Given the description of an element on the screen output the (x, y) to click on. 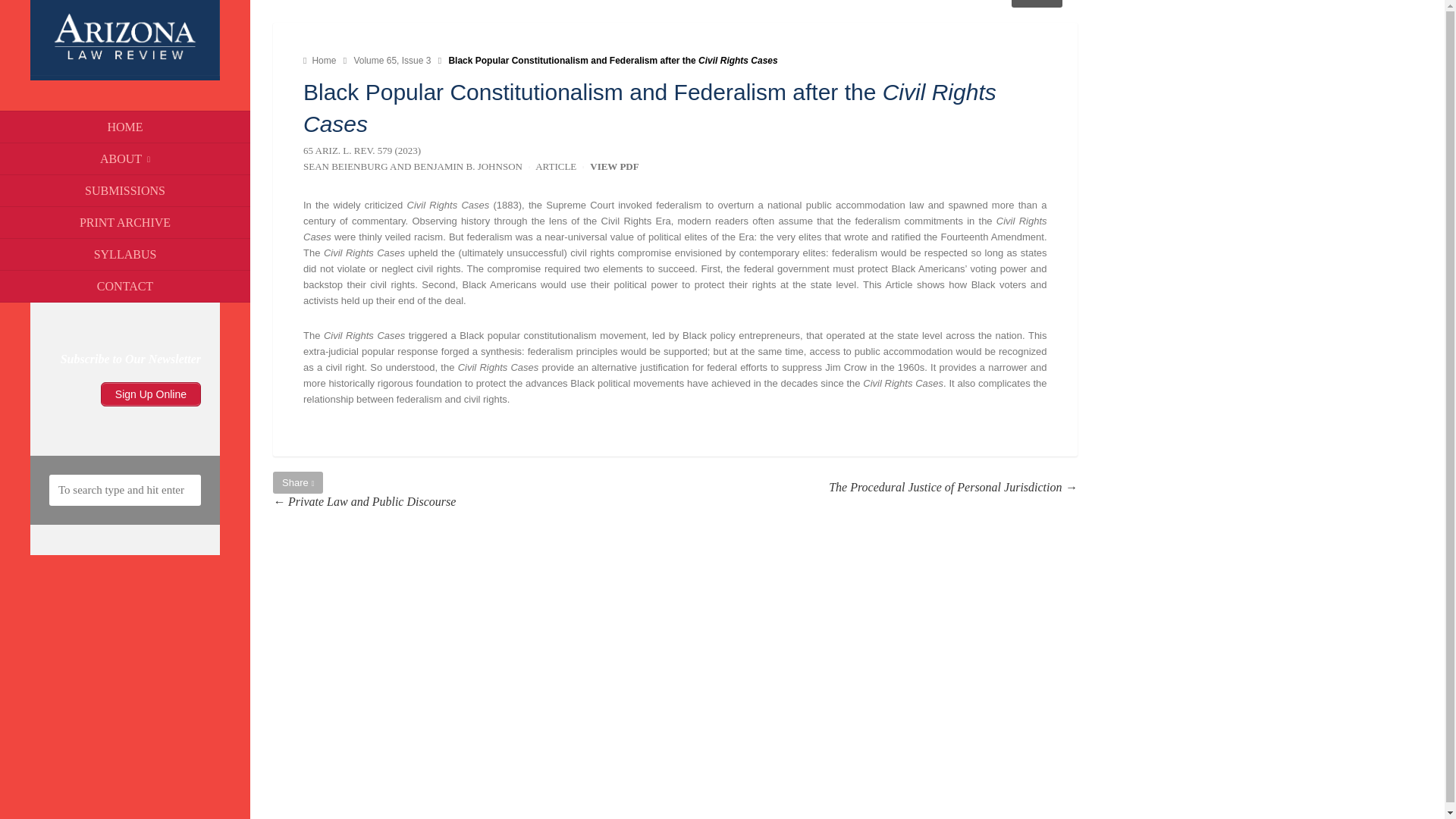
Volume 65, Issue 3 (392, 60)
Share (1036, 3)
ABOUT (125, 159)
Arizona Law Review (320, 60)
PRINT ARCHIVE (125, 223)
SUBMISSIONS (125, 191)
Arizona Law Review (124, 71)
Sign Up Online (150, 394)
VIEW PDF (614, 165)
SYLLABUS (125, 255)
